Given the description of an element on the screen output the (x, y) to click on. 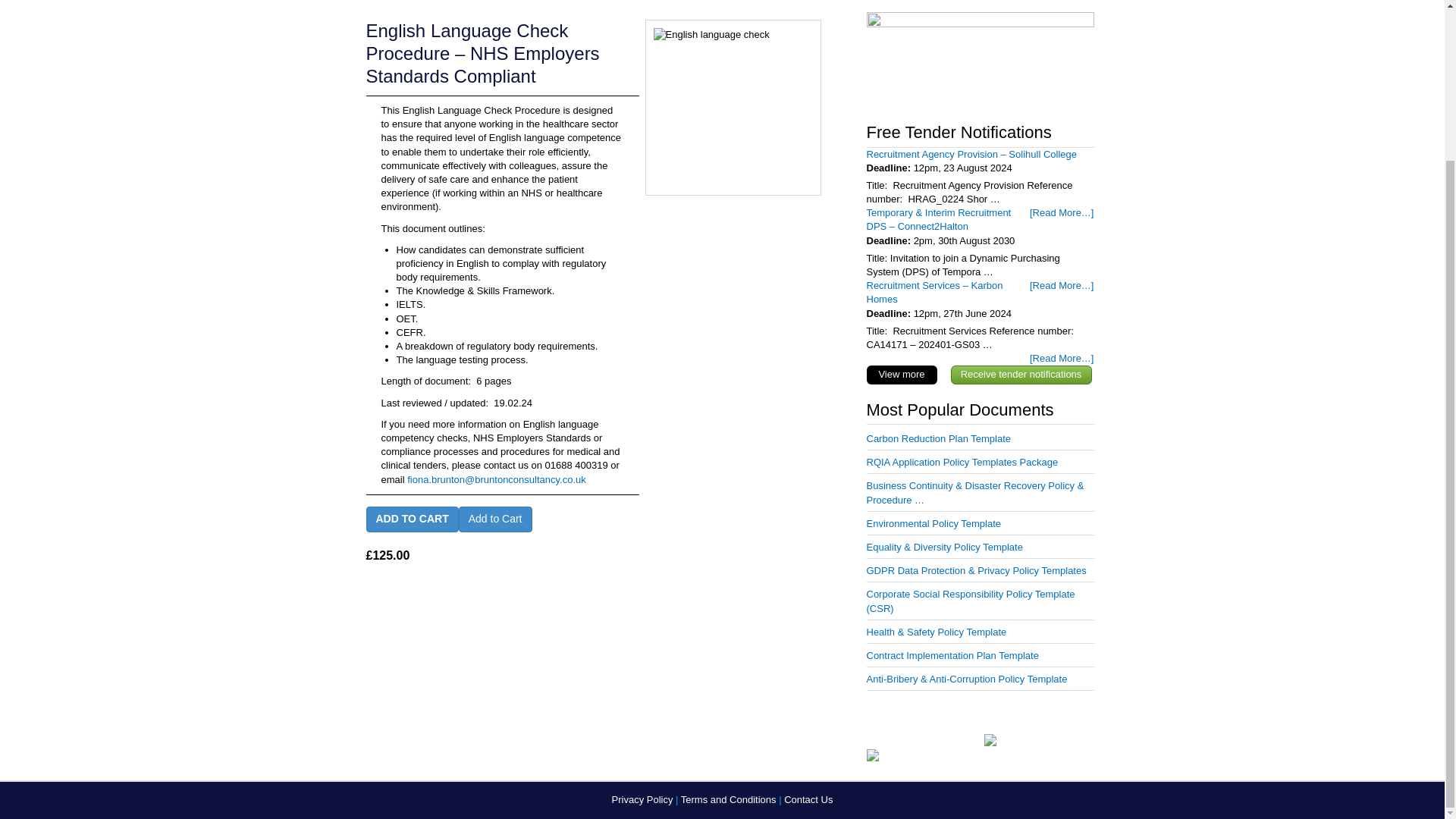
Add to Cart (495, 519)
Add to Cart (495, 519)
ADD TO CART (411, 519)
Carbon Reduction Plan Template for Recruitment Agencies (938, 438)
